Given the description of an element on the screen output the (x, y) to click on. 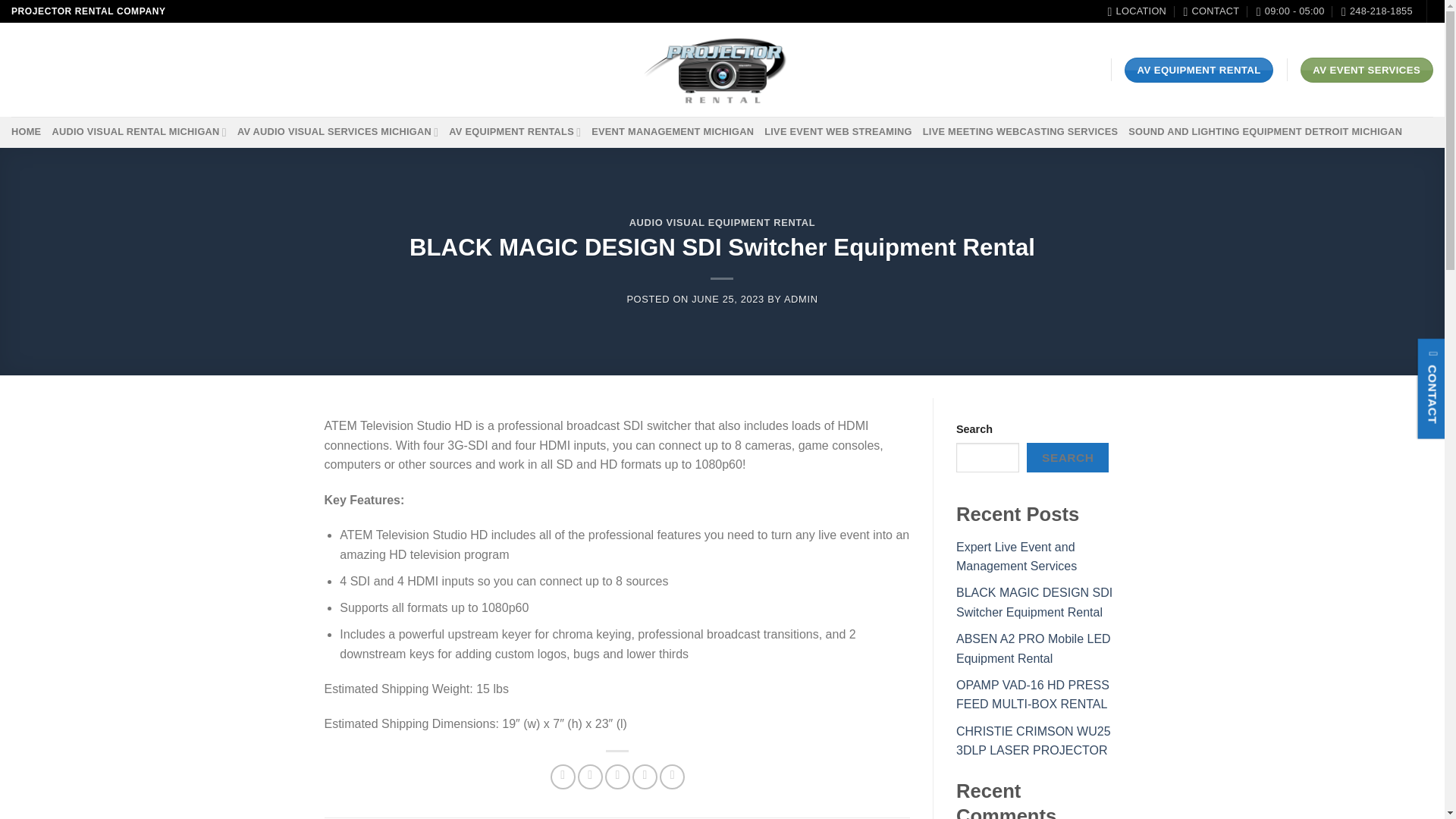
LIVE EVENT WEB STREAMING (838, 132)
CONTACT (1210, 11)
AUDIO VISUAL EQUIPMENT RENTAL (721, 222)
Share on Twitter (590, 776)
SOUND AND LIGHTING EQUIPMENT DETROIT MICHIGAN (1265, 132)
09:00 - 05:00  (1290, 11)
ADMIN (801, 298)
JUNE 25, 2023 (727, 298)
248-218-1855 (1376, 11)
248-218-1855 (1376, 11)
Share on Facebook (562, 776)
AV EQUIPMENT RENTAL (1199, 70)
Pin on Pinterest (644, 776)
LOCATION (1136, 11)
HOME (25, 132)
